Given the description of an element on the screen output the (x, y) to click on. 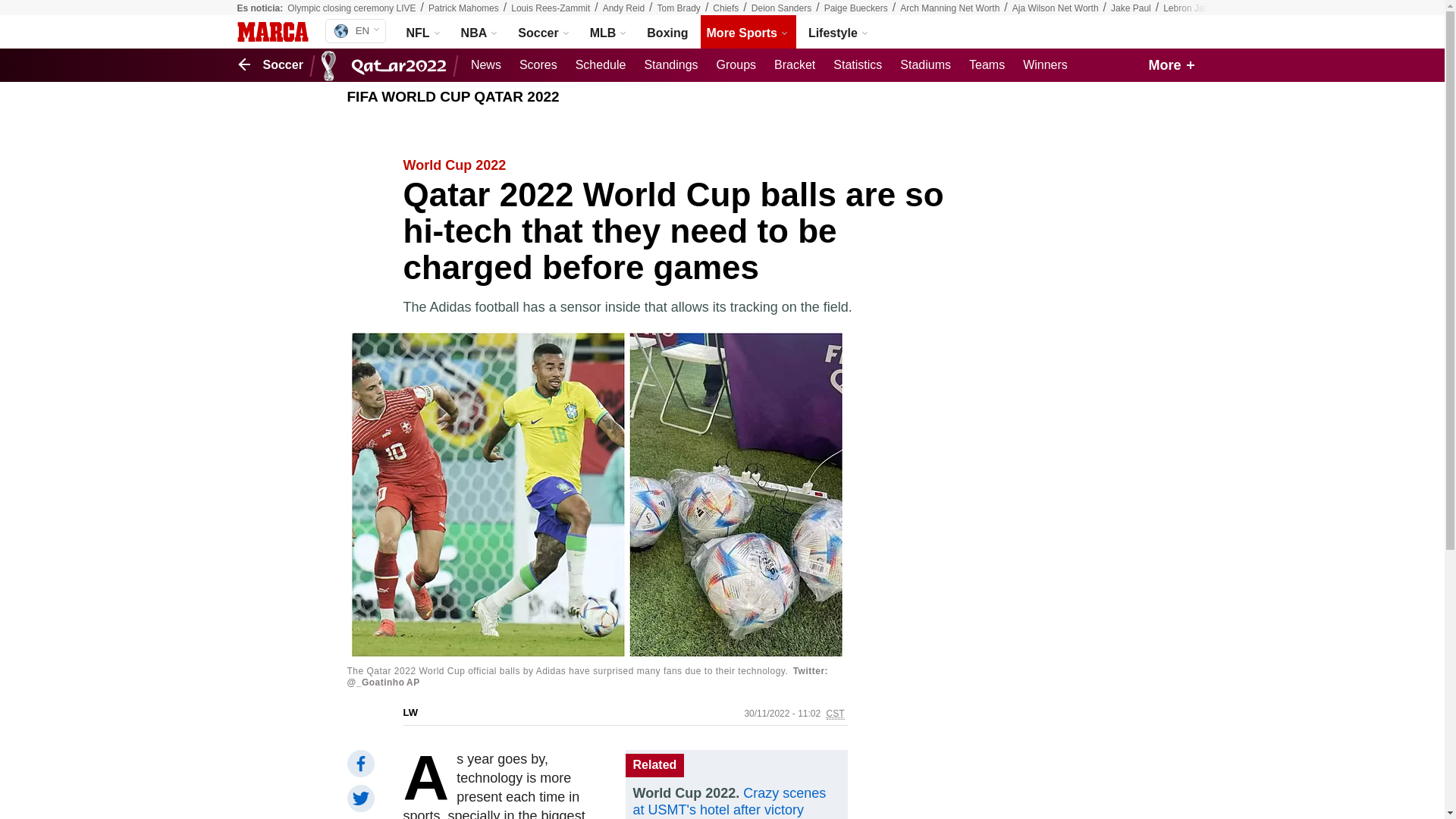
Chiefs (725, 8)
More Sports (748, 31)
NBA (480, 31)
MLB (608, 31)
World Cup (386, 64)
Statistics (857, 64)
Aja Wilson Net Worth (1055, 8)
Groups (735, 64)
Boxing (667, 31)
Lebron James (1192, 8)
